Given the description of an element on the screen output the (x, y) to click on. 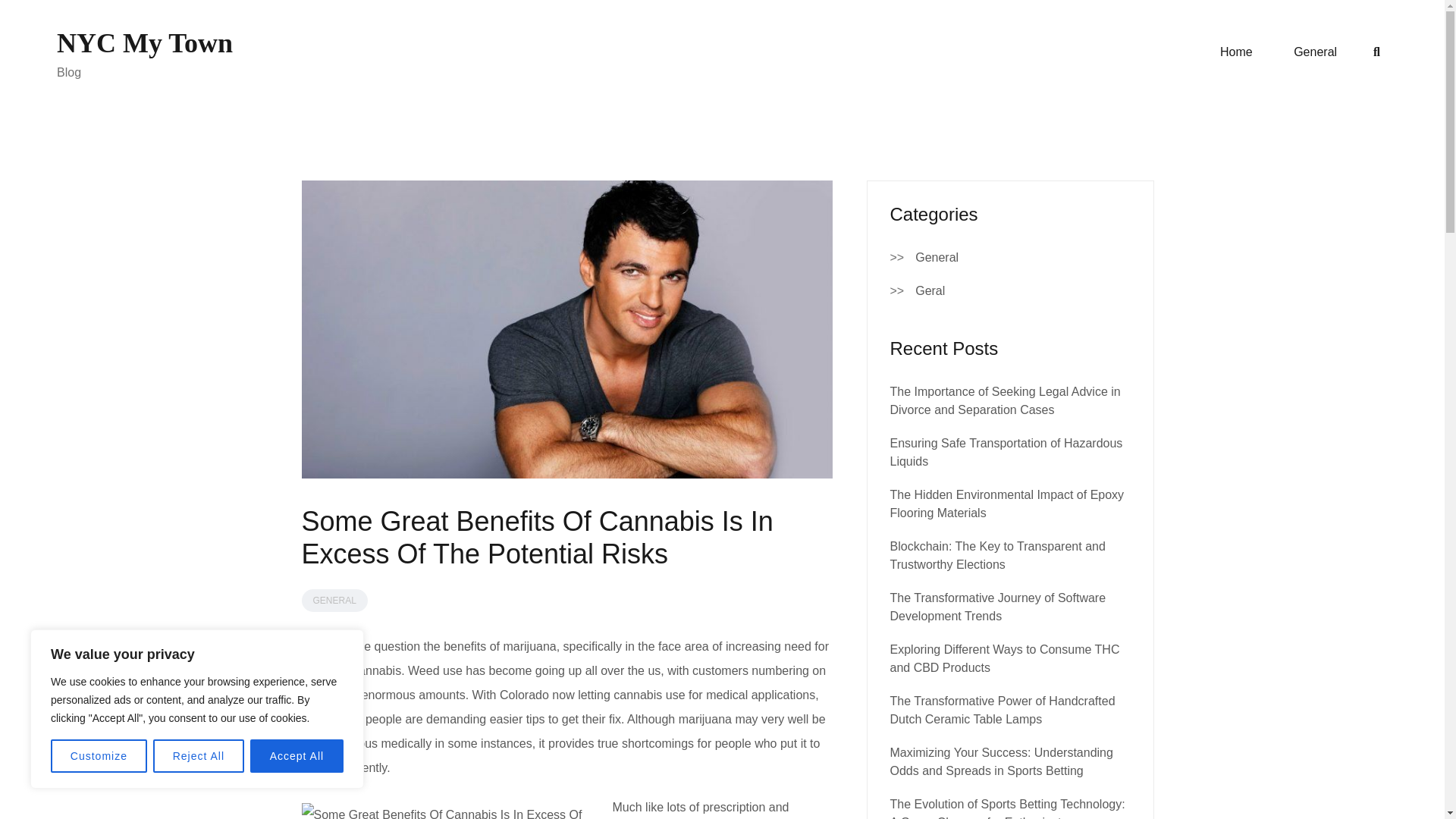
Home (1236, 52)
General (1315, 52)
GENERAL (334, 599)
Customize (98, 756)
The Transformative Journey of Software Development Trends (997, 606)
Reject All (198, 756)
NYC My Town (144, 42)
Blockchain: The Key to Transparent and Trustworthy Elections (997, 554)
Geral (929, 290)
The Hidden Environmental Impact of Epoxy Flooring Materials (1006, 503)
General (936, 257)
Ensuring Safe Transportation of Hazardous Liquids (1005, 451)
Accept All (296, 756)
Exploring Different Ways to Consume THC and CBD Products (1004, 658)
